Given the description of an element on the screen output the (x, y) to click on. 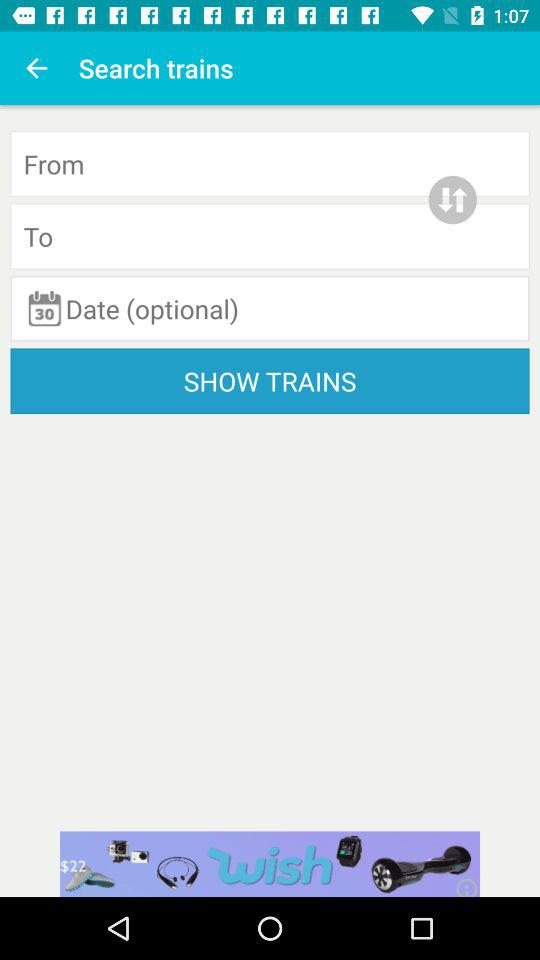
select the date (269, 308)
